Given the description of an element on the screen output the (x, y) to click on. 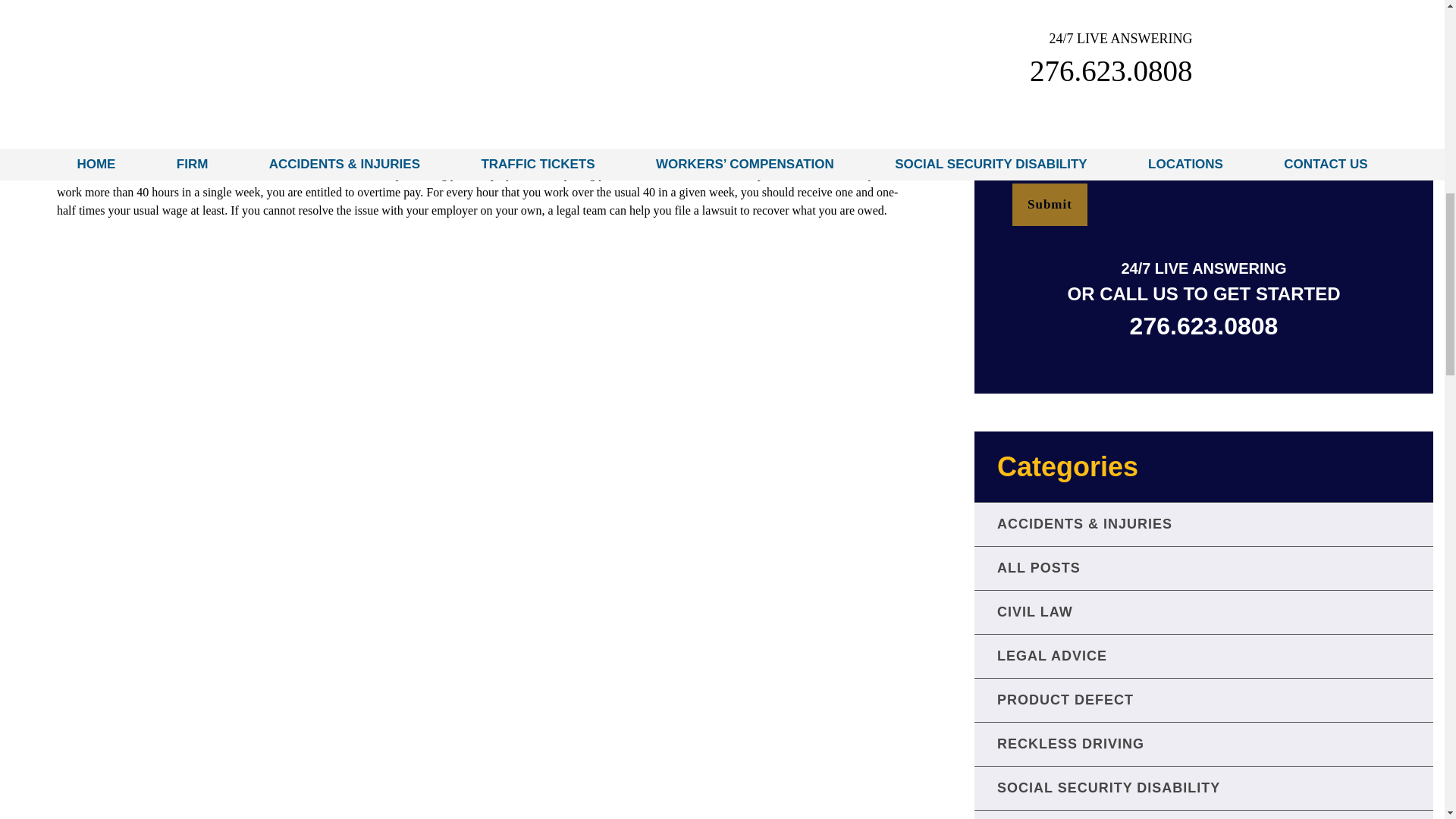
Submit (1049, 204)
